Given the description of an element on the screen output the (x, y) to click on. 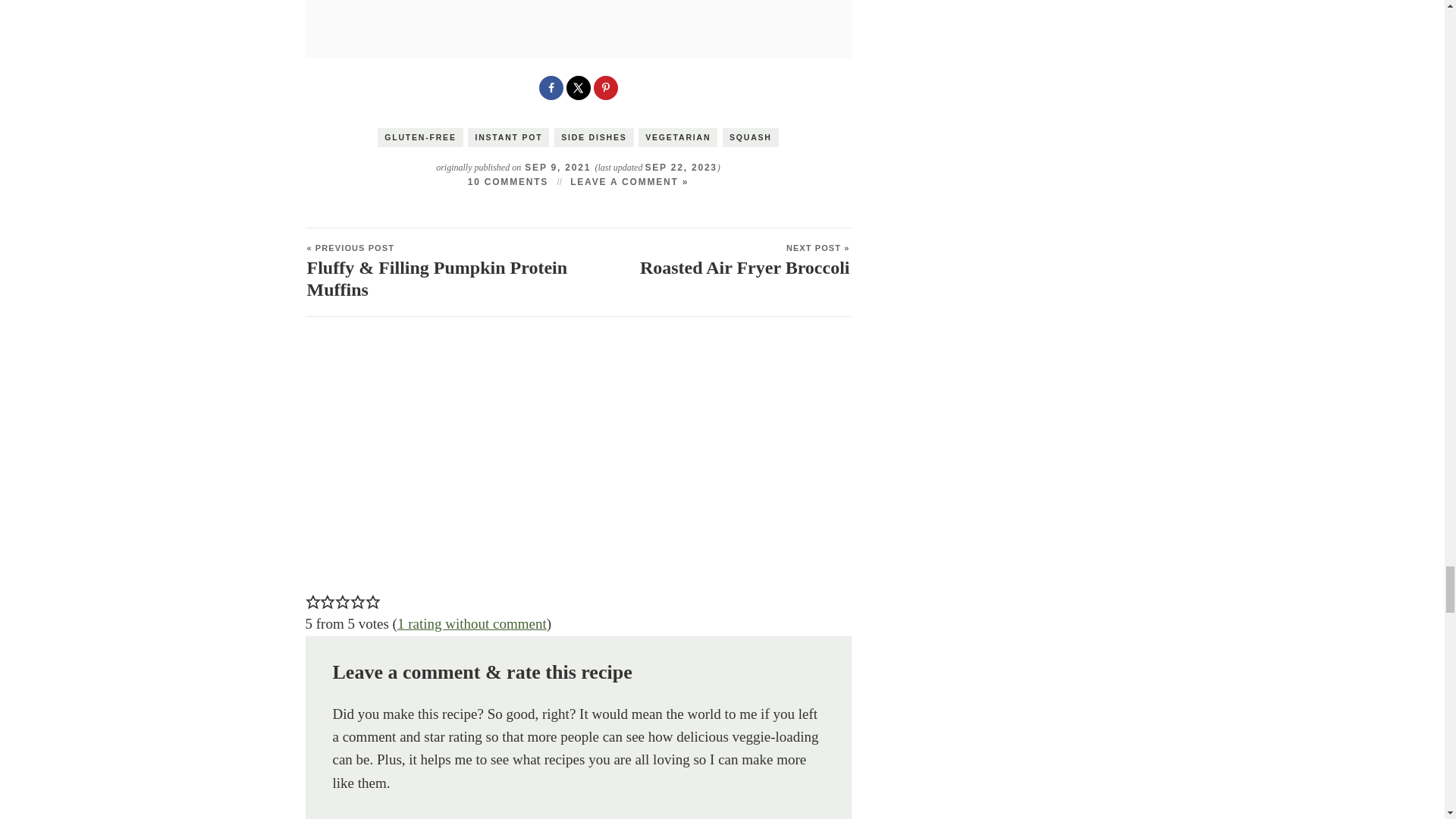
Save to Pinterest (604, 87)
Share on X (577, 87)
Share on Facebook (550, 87)
